Given the description of an element on the screen output the (x, y) to click on. 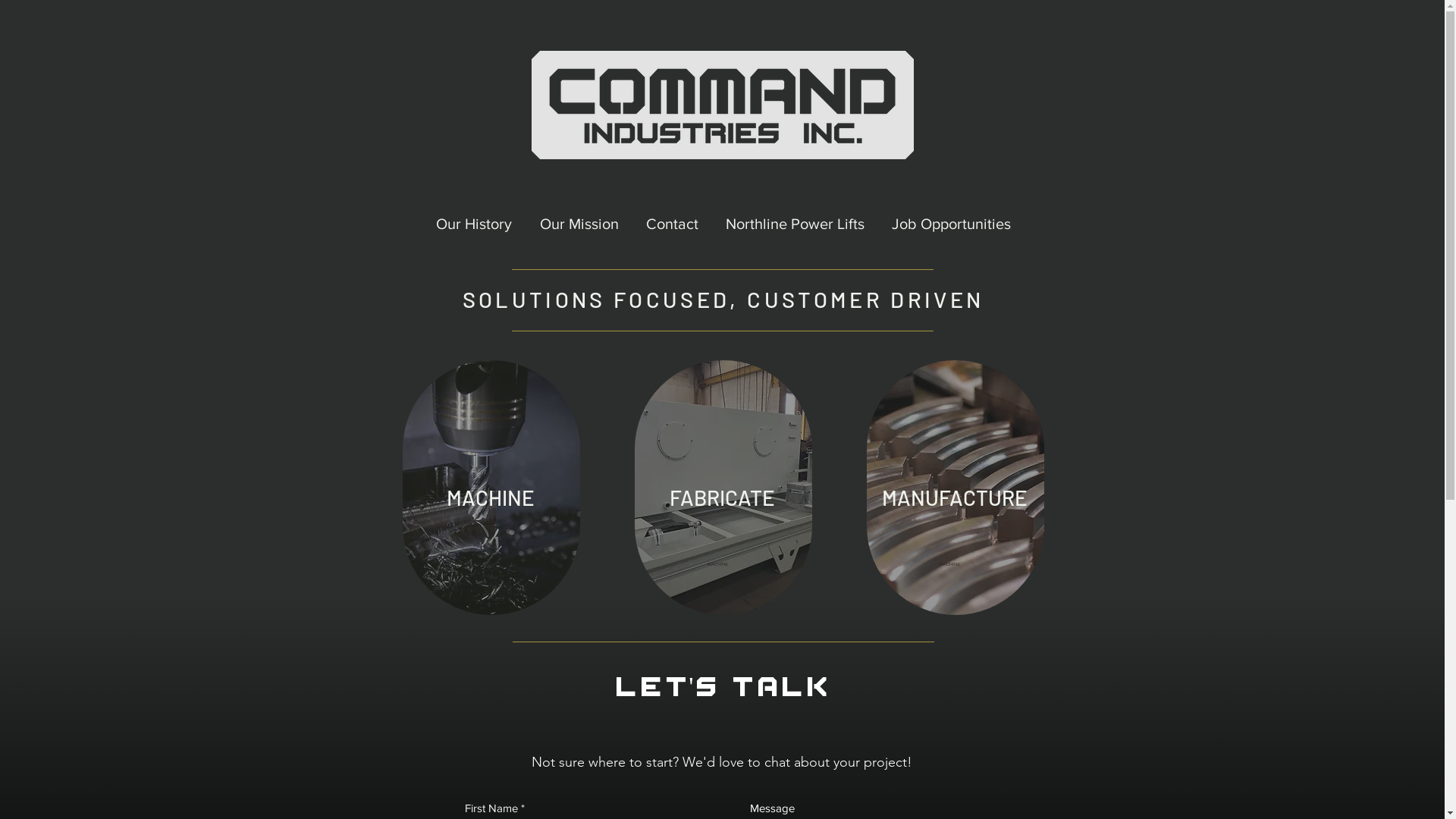
MACHINE Element type: text (490, 497)
Northline Power Lifts Element type: text (794, 223)
Our History Element type: text (473, 223)
FABRICATE Element type: text (722, 497)
Job Opportunities Element type: text (951, 223)
Contact Element type: text (672, 223)
Our Mission Element type: text (579, 223)
MANUFACTURE Element type: text (954, 497)
